Given the description of an element on the screen output the (x, y) to click on. 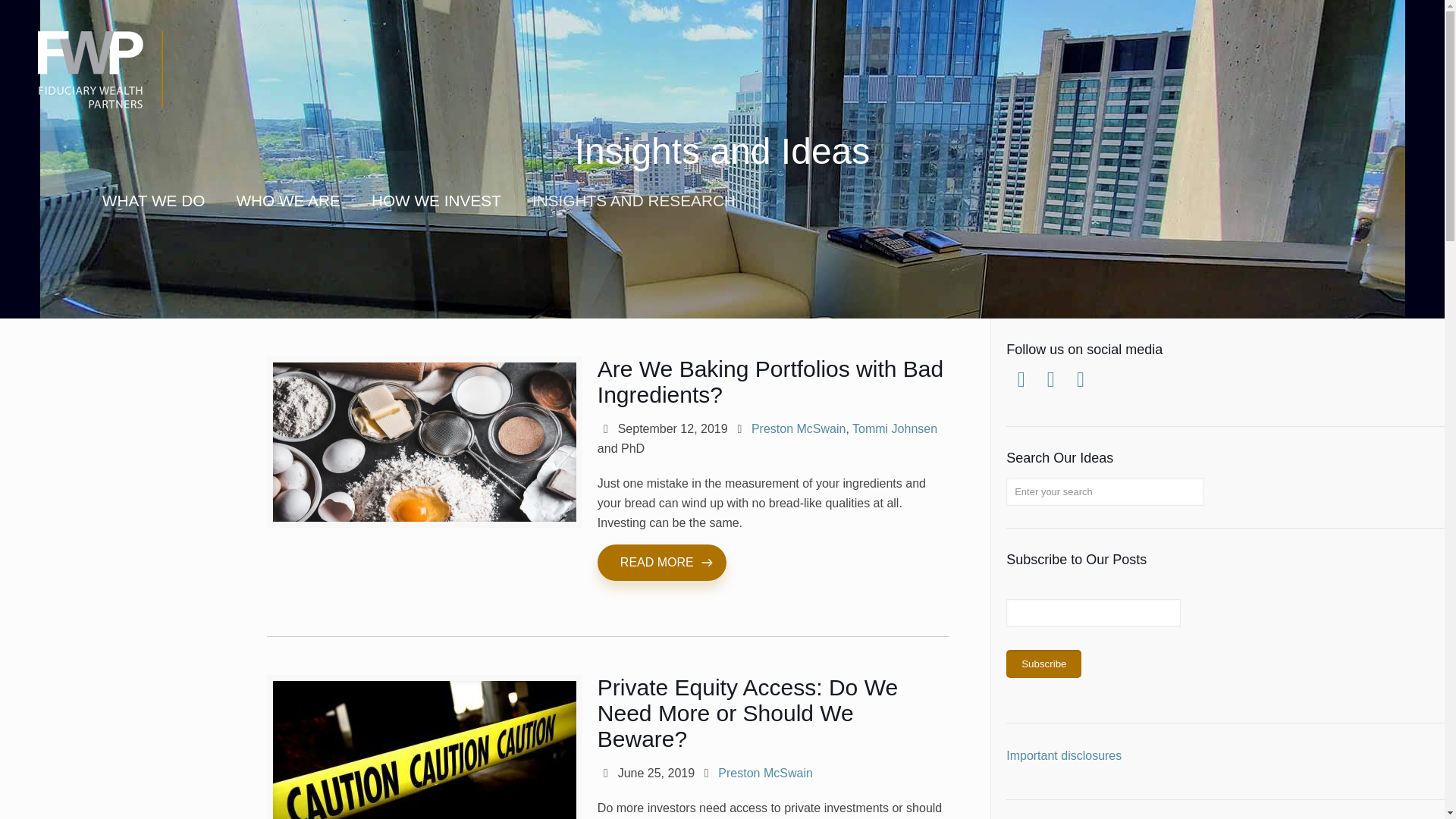
Subscribe (1043, 664)
Are We Baking Portfolios with Bad Ingredients? (769, 381)
Preston McSwain (764, 772)
READ MORE (661, 562)
View all posts by Tommi Johnsen (894, 428)
Private Equity Access: Do We Need More or Should We Beware? (747, 712)
Tommi Johnsen (894, 428)
HOW WE INVEST (436, 201)
INSIGHTS AND RESEARCH (633, 201)
Preston McSwain (798, 428)
WHAT WE DO (154, 201)
View all posts by Preston McSwain (798, 428)
WHO WE ARE (288, 201)
FWP (115, 83)
